Given the description of an element on the screen output the (x, y) to click on. 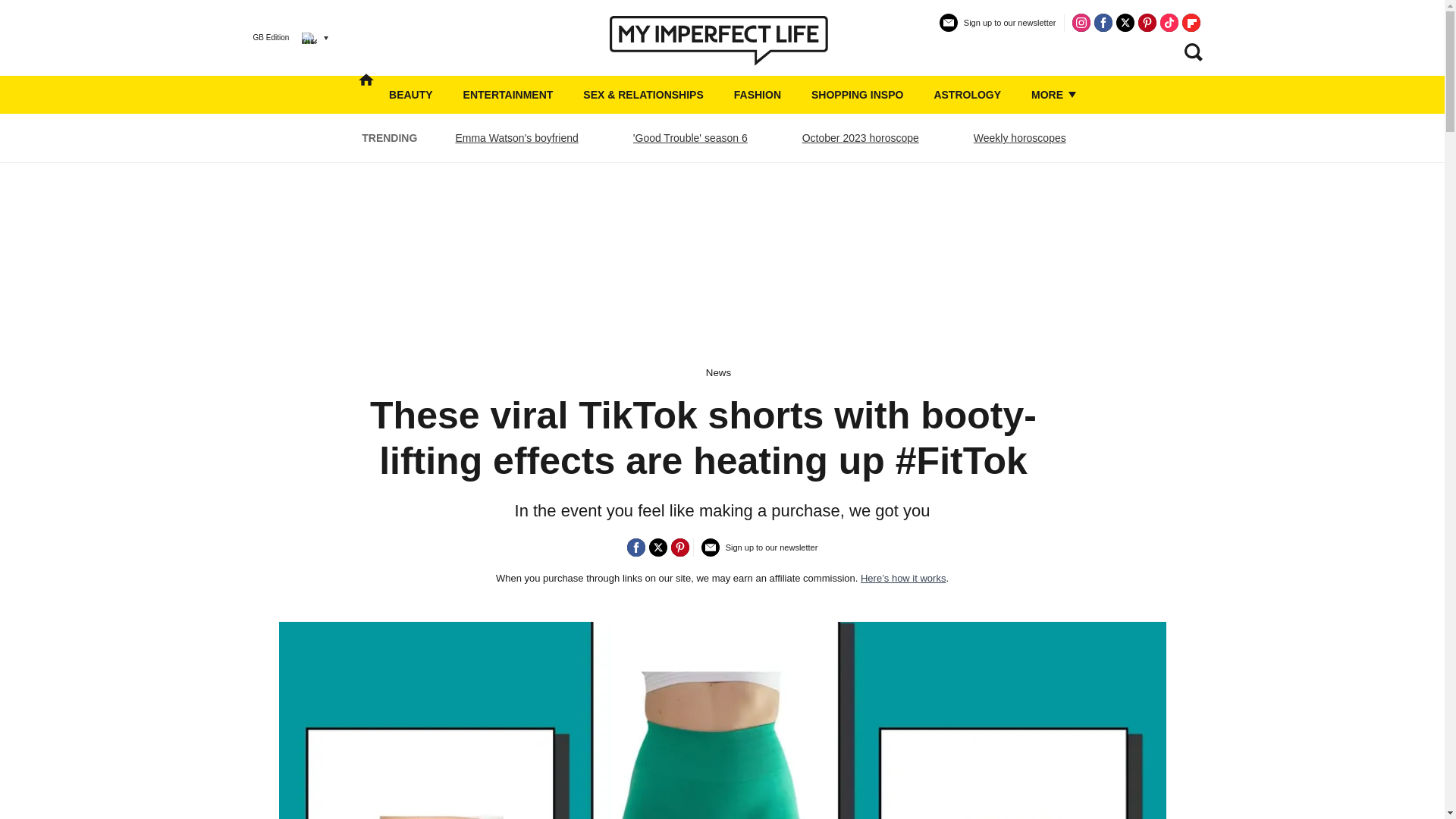
News (718, 372)
GB Edition (279, 37)
Emma Watson's boyfriend (516, 137)
FASHION (756, 94)
BEAUTY (410, 94)
Weekly horoscopes (1019, 137)
October 2023 horoscope (860, 137)
Sign up to our newsletter (759, 552)
ASTROLOGY (967, 94)
'Good Trouble' season 6 (689, 137)
SHOPPING INSPO (856, 94)
Sign up to our newsletter (998, 28)
ENTERTAINMENT (508, 94)
